Given the description of an element on the screen output the (x, y) to click on. 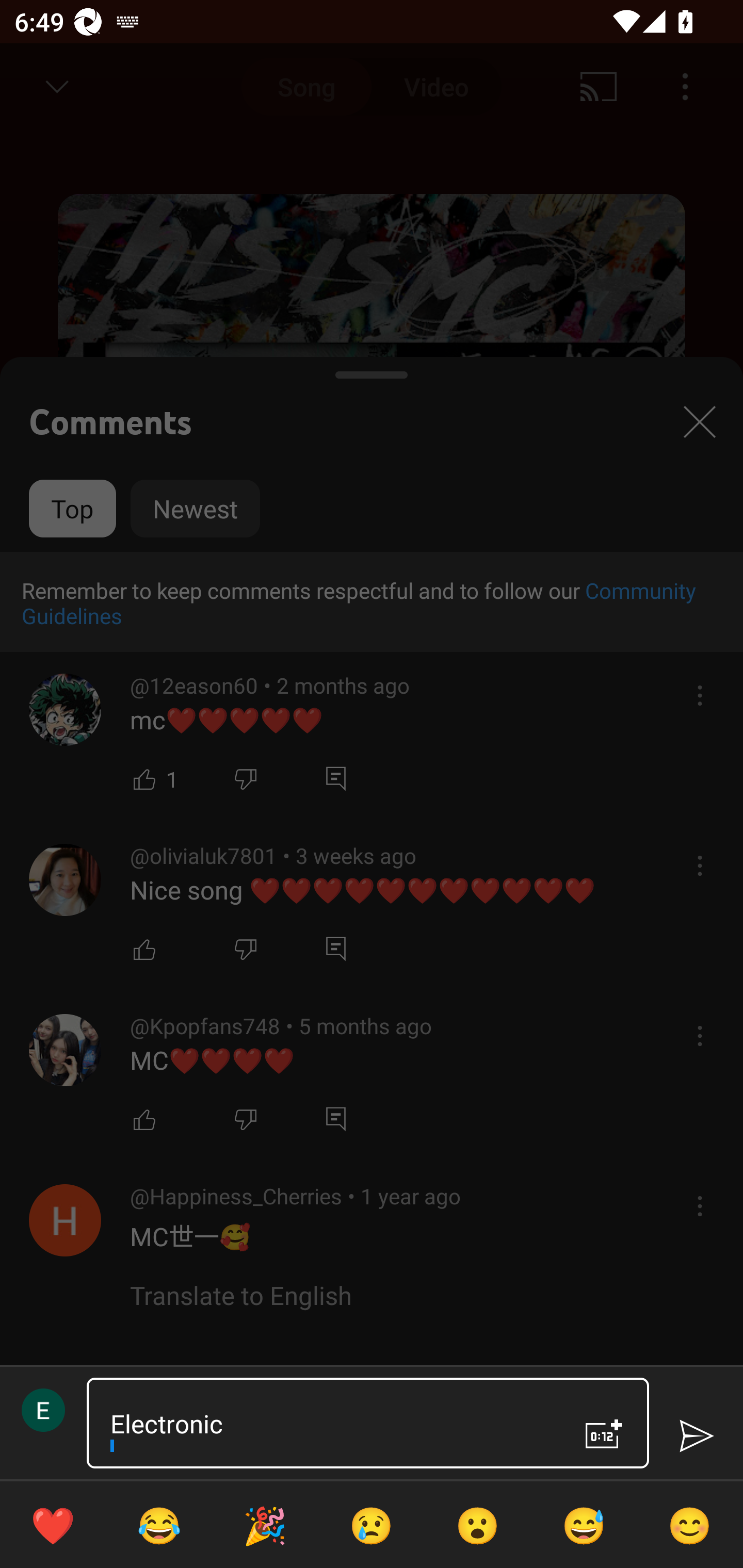
Electronic
 (329, 1422)
Add a timestamp (603, 1433)
Send comment (695, 1436)
❤ (53, 1524)
😂 (158, 1524)
🎉 (264, 1524)
😢 (371, 1524)
😮 (477, 1524)
😅 (583, 1524)
😊 (689, 1524)
